Given the description of an element on the screen output the (x, y) to click on. 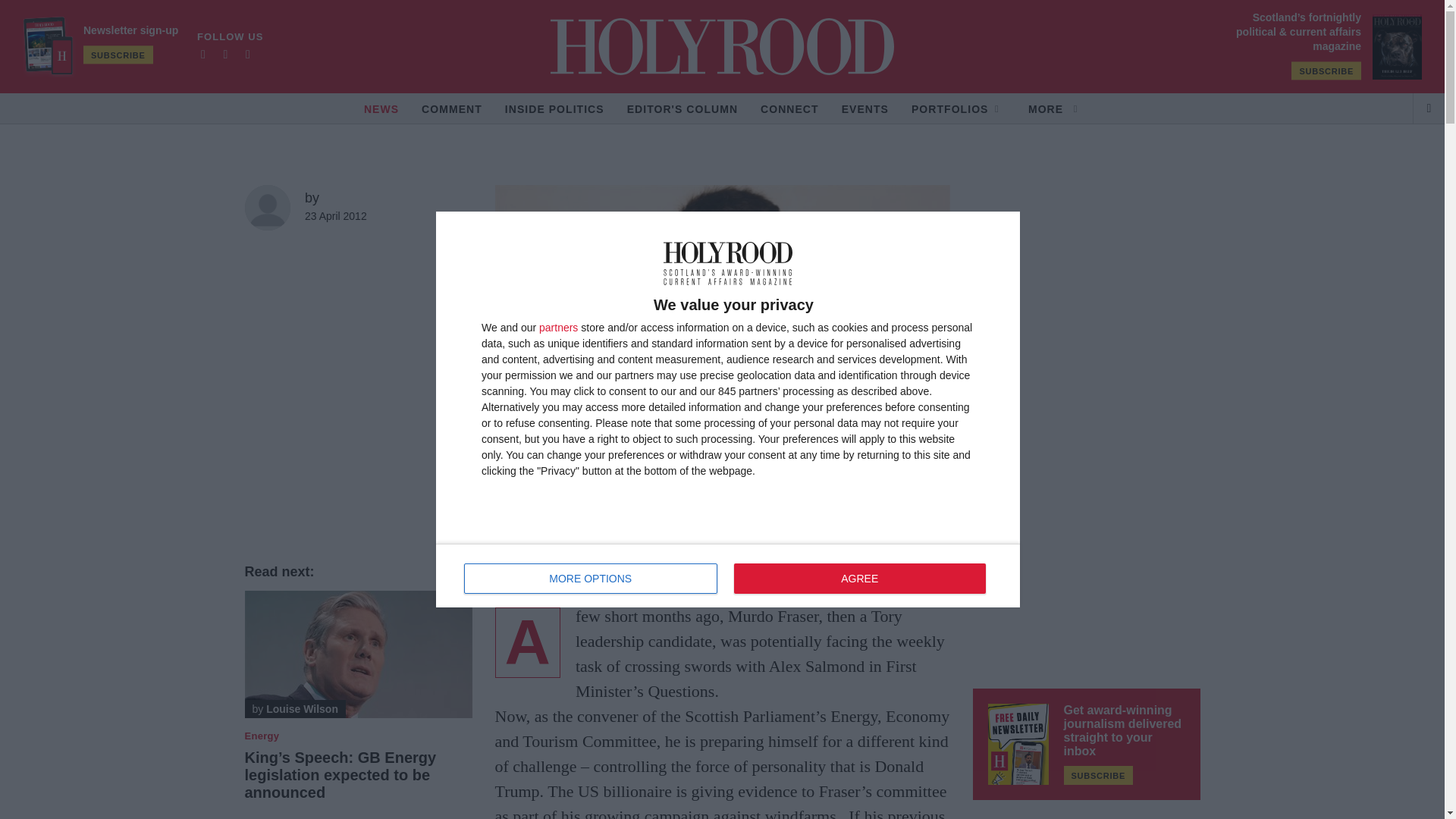
SUBSCRIBE (117, 54)
Editor's Column - Holyrood Magazine - Mandy Rhodes (682, 108)
EDITOR'S COLUMN (682, 108)
Holyrood (721, 46)
NEWS (381, 108)
Connect (789, 108)
CONNECT (789, 108)
EVENTS (864, 108)
COMMENT (451, 108)
SUBSCRIBE (1326, 70)
PORTFOLIOS (957, 108)
More items (1053, 108)
MORE OPTIONS (590, 578)
MORE (1053, 108)
INSIDE POLITICS (554, 108)
